Given the description of an element on the screen output the (x, y) to click on. 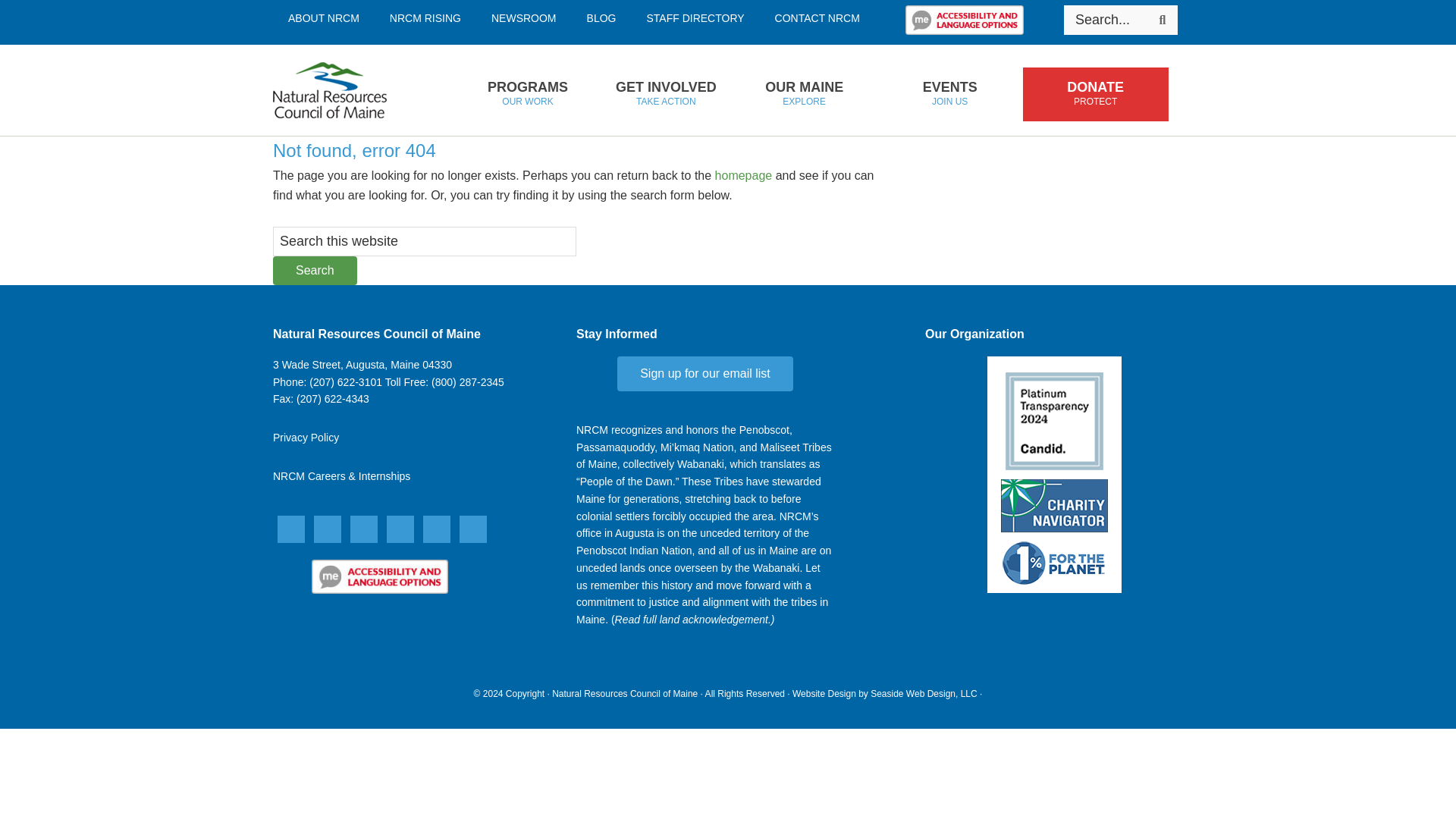
NRCM RISING (425, 18)
BLOG (601, 18)
ABOUT NRCM (323, 18)
NEWSROOM (524, 18)
Search (1162, 19)
Natural Resources Council of Maine (354, 90)
Search (314, 270)
Contact Us (362, 364)
Search (314, 270)
CONTACT NRCM (817, 18)
STAFF DIRECTORY (526, 94)
